Given the description of an element on the screen output the (x, y) to click on. 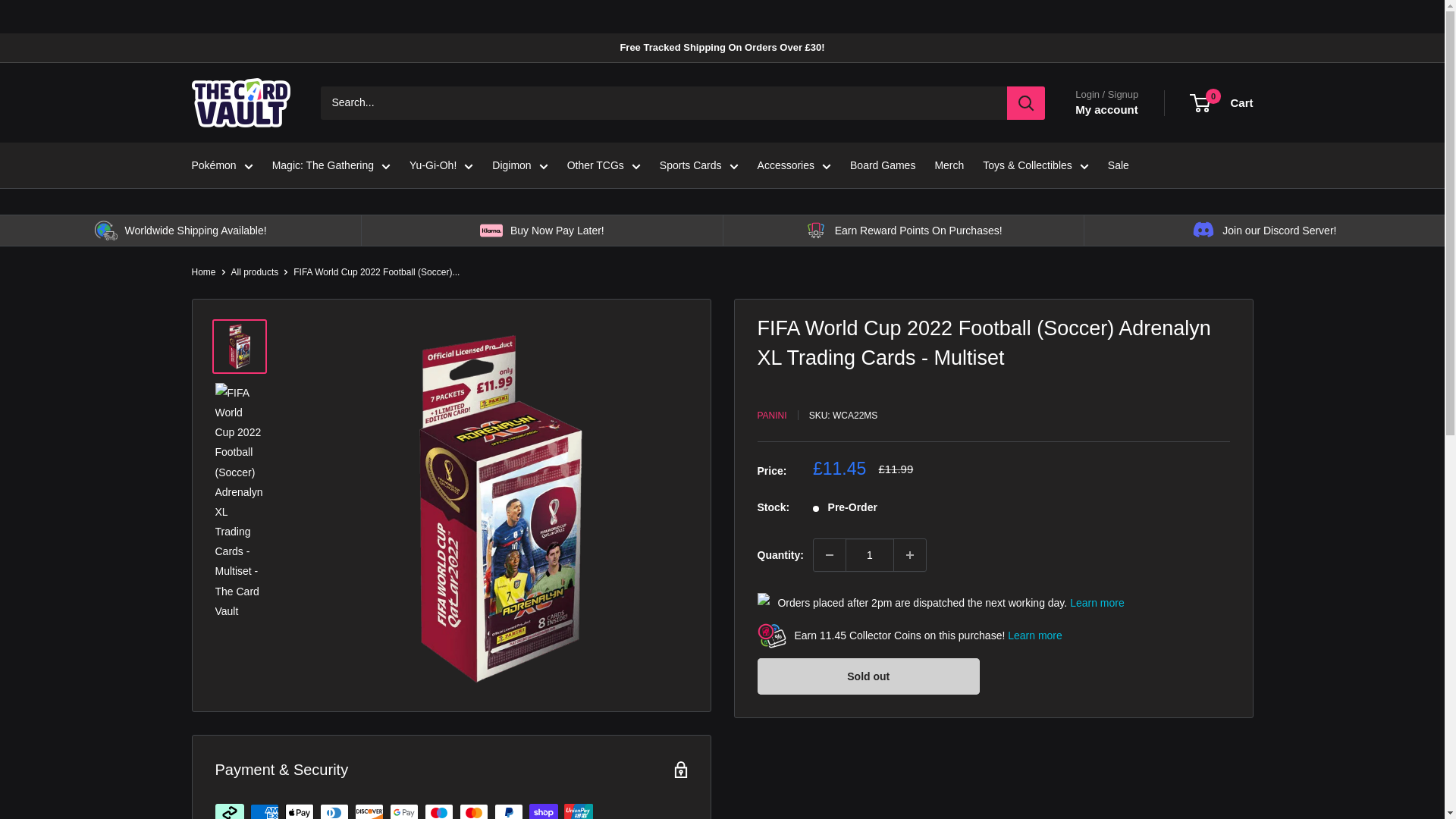
Decrease quantity by 1 (829, 554)
1 (869, 554)
Increase quantity by 1 (909, 554)
